Given the description of an element on the screen output the (x, y) to click on. 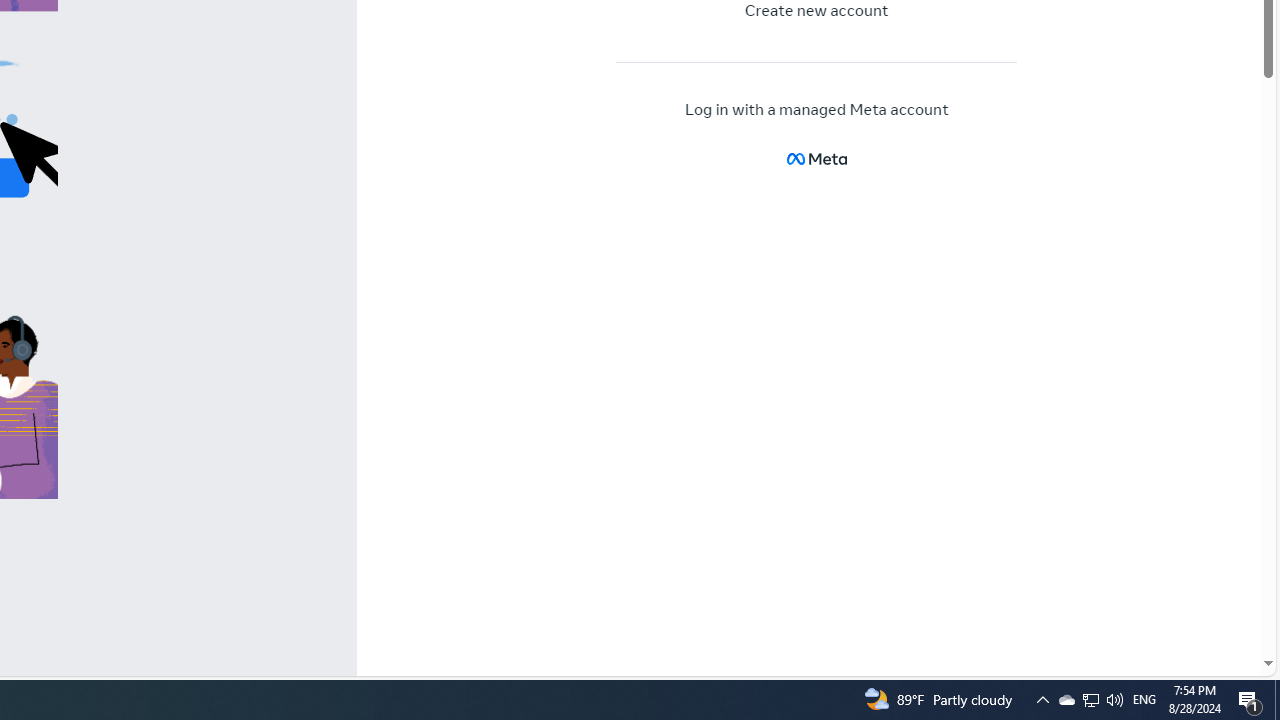
Meta logo (816, 157)
Log in with a managed Meta account (817, 110)
